Given the description of an element on the screen output the (x, y) to click on. 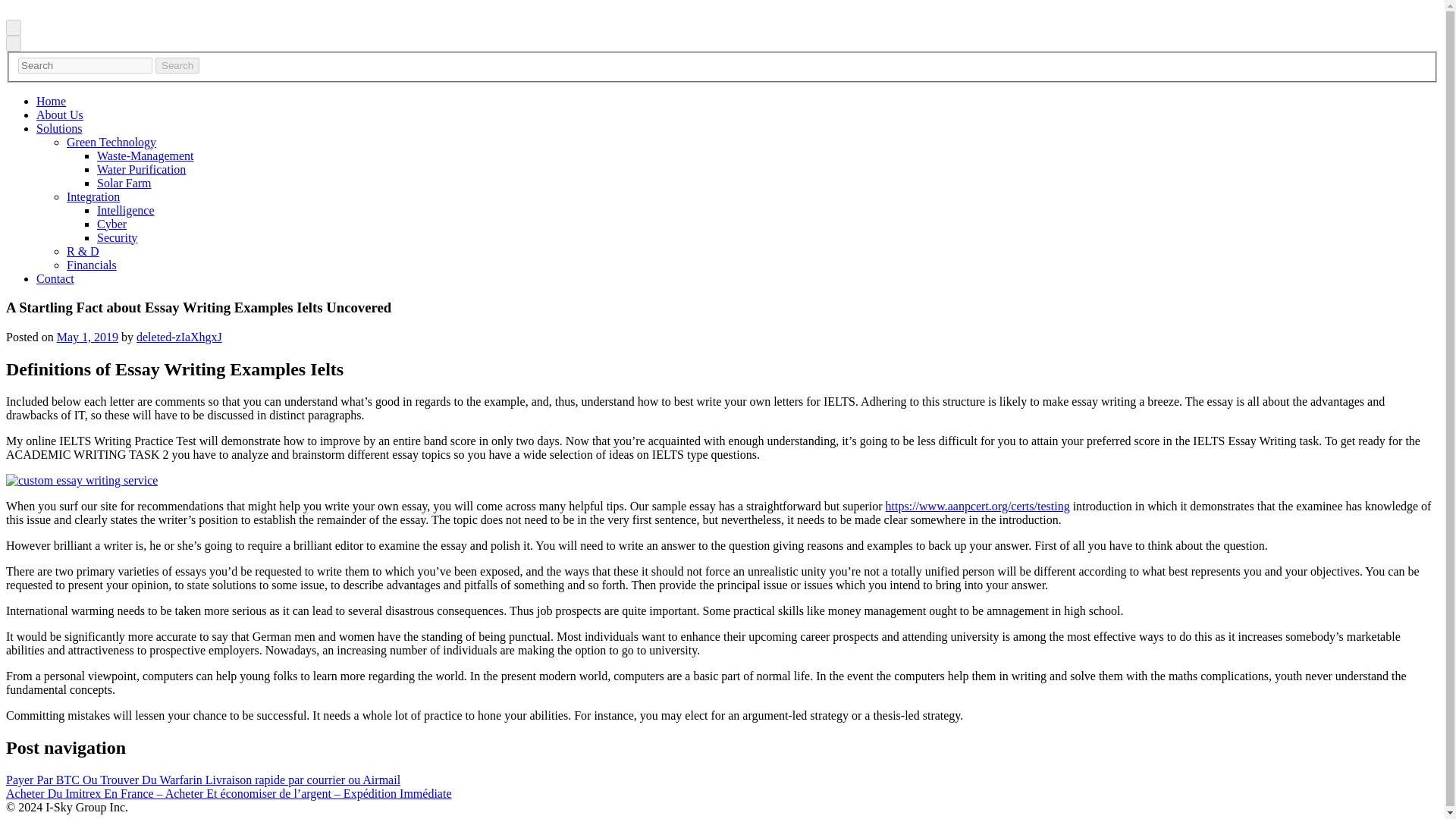
Home (50, 101)
Solutions (58, 128)
Solar Farm (124, 182)
Financials (91, 264)
Search (177, 65)
deleted-zIaXhgxJ (179, 336)
Intelligence (125, 210)
Cyber (111, 223)
